Given the description of an element on the screen output the (x, y) to click on. 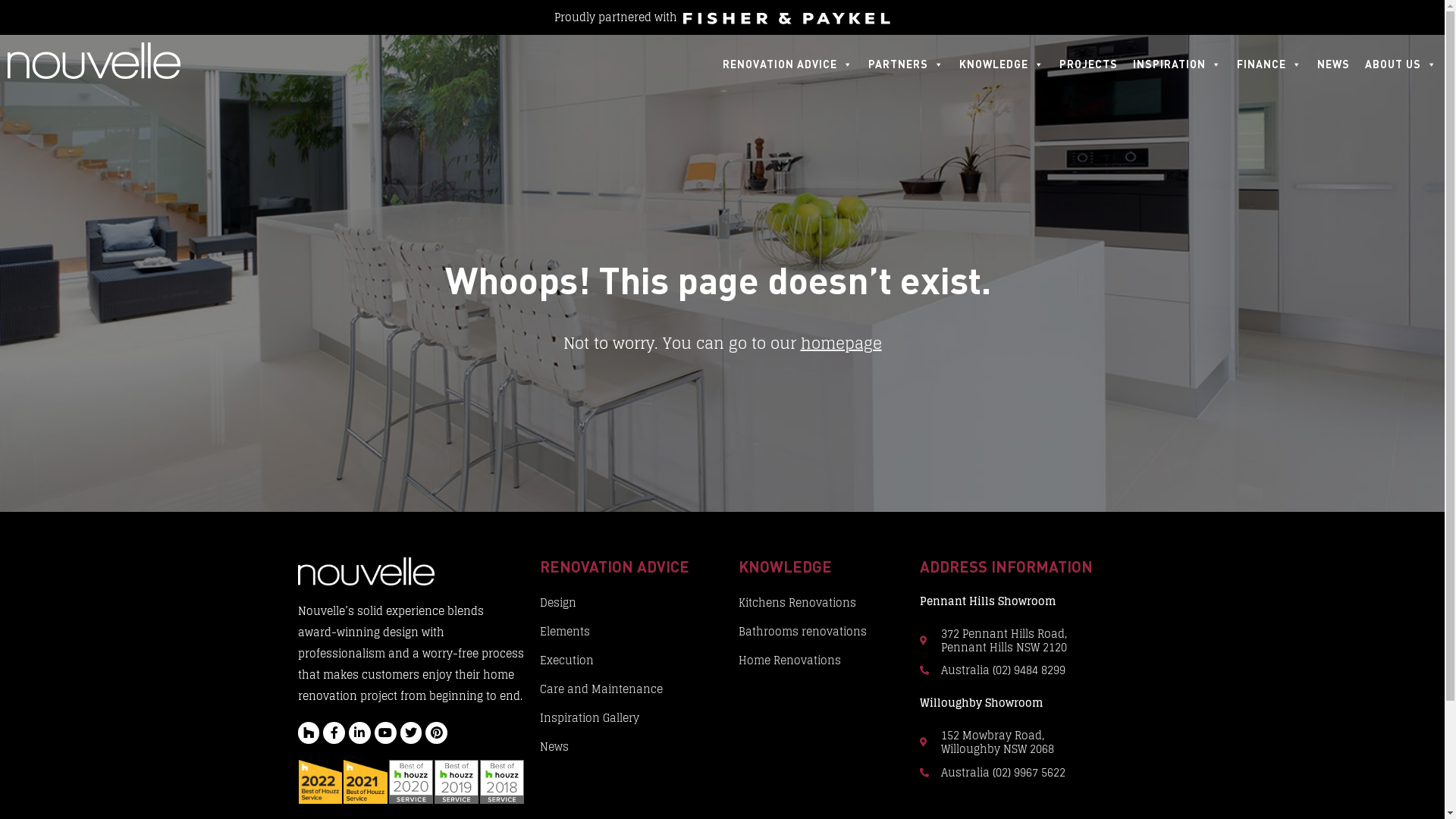
Australia (02) 9967 5622 Element type: text (1032, 772)
Inspiration Gallery Element type: text (631, 718)
Design Element type: text (631, 602)
News Element type: text (631, 746)
RENOVATION ADVICE Element type: text (787, 64)
Execution Element type: text (631, 660)
NEWS Element type: text (1333, 64)
homepage Element type: text (840, 343)
PROJECTS Element type: text (1088, 64)
Kitchens Renovations Element type: text (821, 602)
INSPIRATION Element type: text (1177, 64)
Care and Maintenance Element type: text (631, 689)
PARTNERS Element type: text (905, 64)
ABOUT US Element type: text (1400, 64)
Bathrooms renovations Element type: text (821, 631)
KNOWLEDGE Element type: text (1001, 64)
FINANCE Element type: text (1269, 64)
Elements Element type: text (631, 631)
Home Renovations Element type: text (821, 660)
Australia (02) 9484 8299 Element type: text (1032, 670)
